Given the description of an element on the screen output the (x, y) to click on. 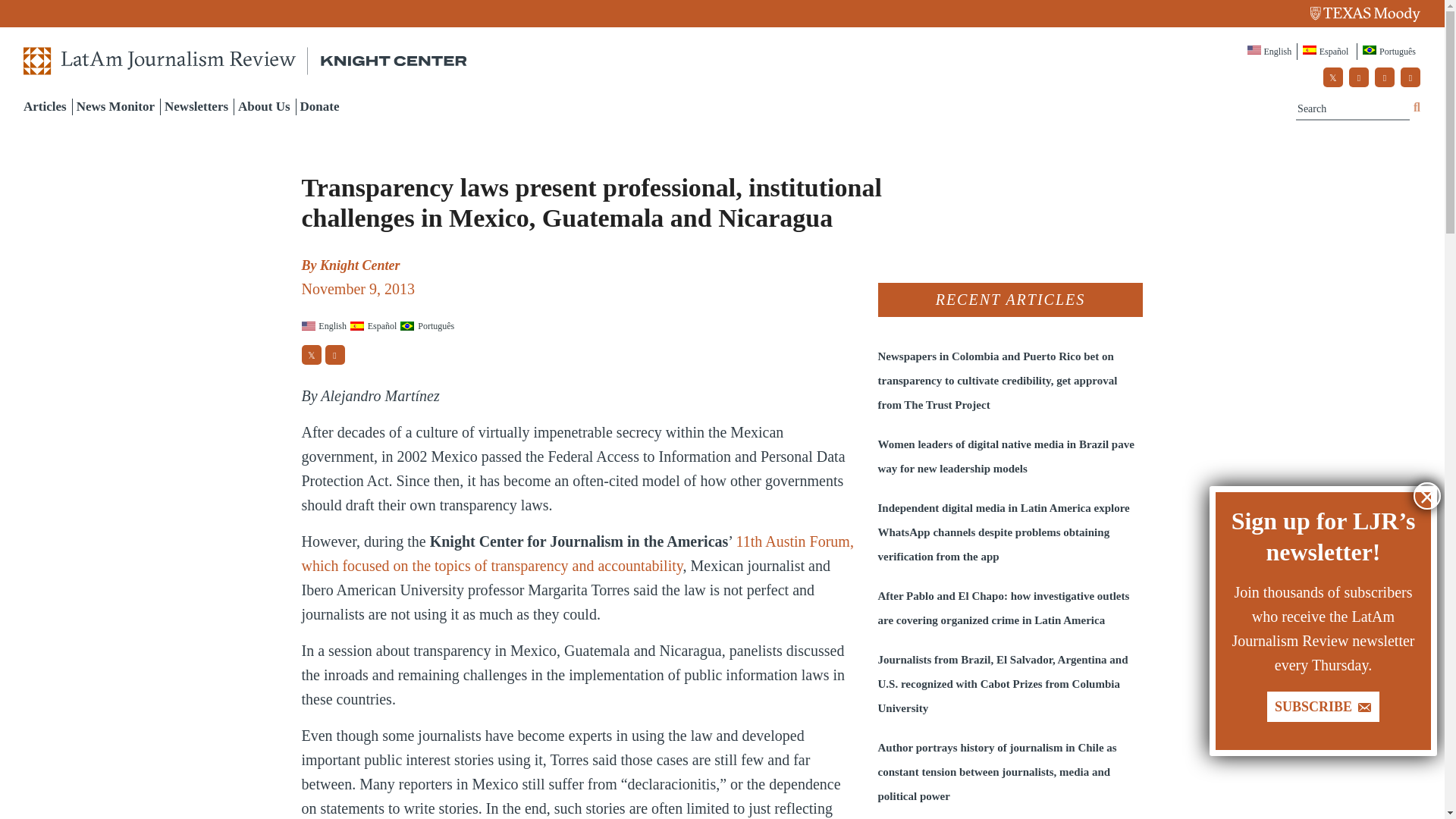
About Us (263, 106)
English (1270, 51)
English (1270, 51)
Donate (319, 106)
search (1416, 107)
Knight Center (360, 264)
youtube (1384, 76)
Newsletters (196, 106)
linkedin (1410, 76)
facebook (1358, 76)
Articles (44, 106)
Posts by Knight Center (360, 264)
